Given the description of an element on the screen output the (x, y) to click on. 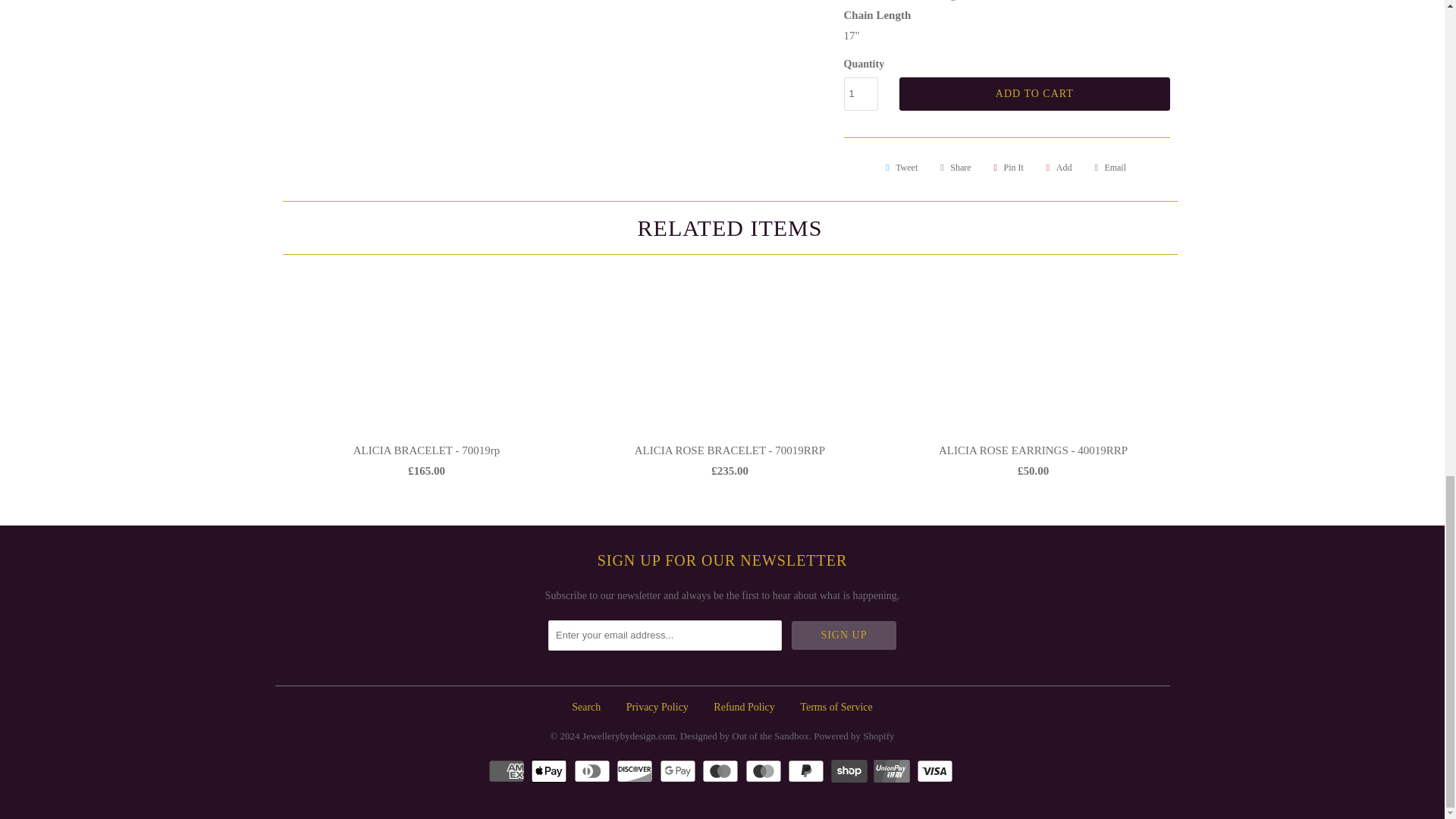
ADD TO CART (1034, 93)
Sign Up (844, 635)
Share this on Pinterest (1005, 167)
Share this on Facebook (953, 167)
Share this on Twitter (898, 167)
Email this to a friend (1107, 167)
Mobilia Shopify Theme by Out of the Sandbox (744, 731)
1 (860, 93)
